Given the description of an element on the screen output the (x, y) to click on. 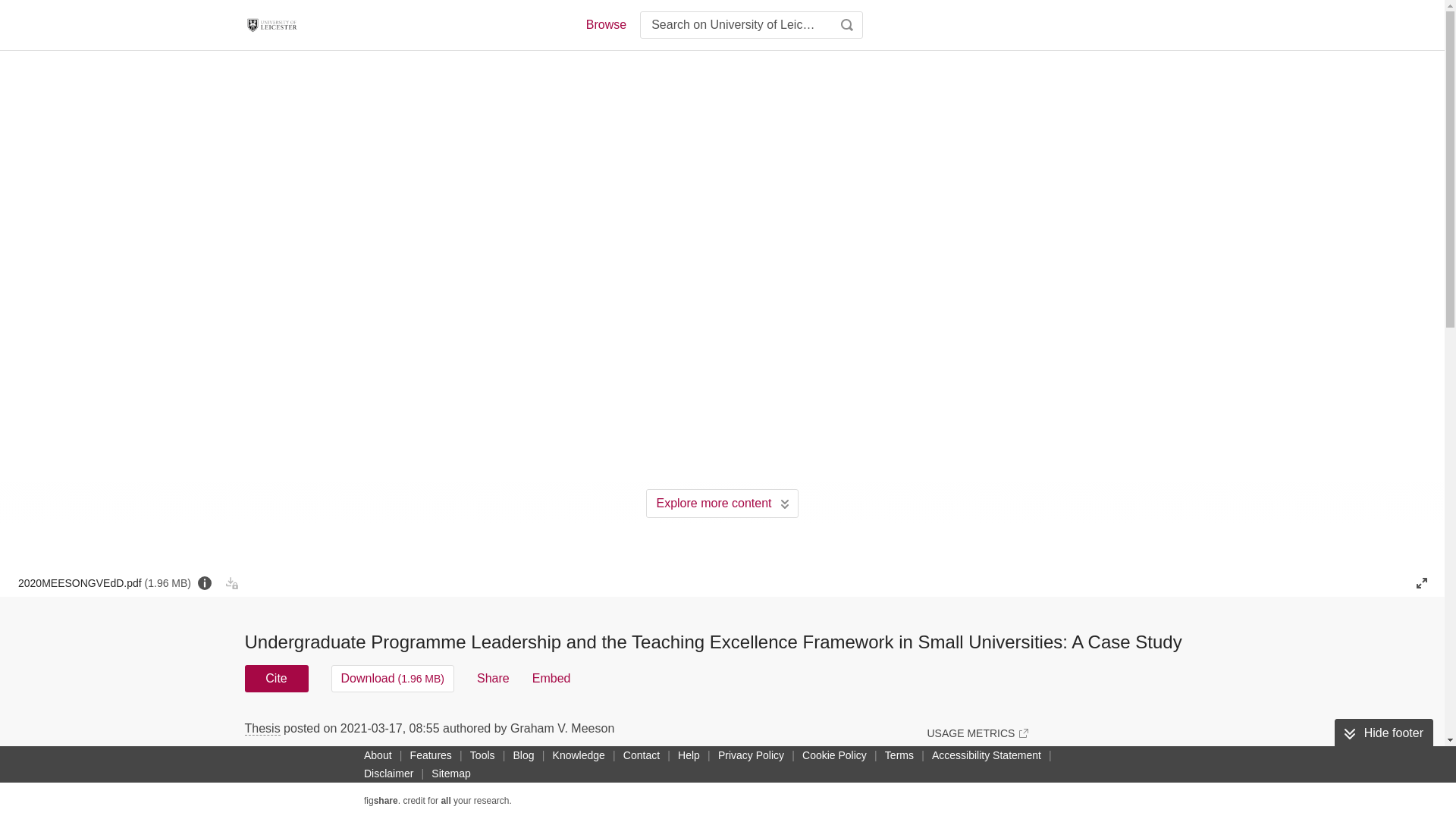
Help (688, 755)
Contact (640, 755)
USAGE METRICS (976, 732)
Embed (551, 678)
Cite (275, 678)
Explore more content (721, 502)
Privacy Policy (751, 755)
Share (493, 678)
Knowledge (579, 755)
Blog (523, 755)
About (377, 755)
Hide footer (1383, 733)
Browse (605, 24)
Cookie Policy (833, 755)
